Given the description of an element on the screen output the (x, y) to click on. 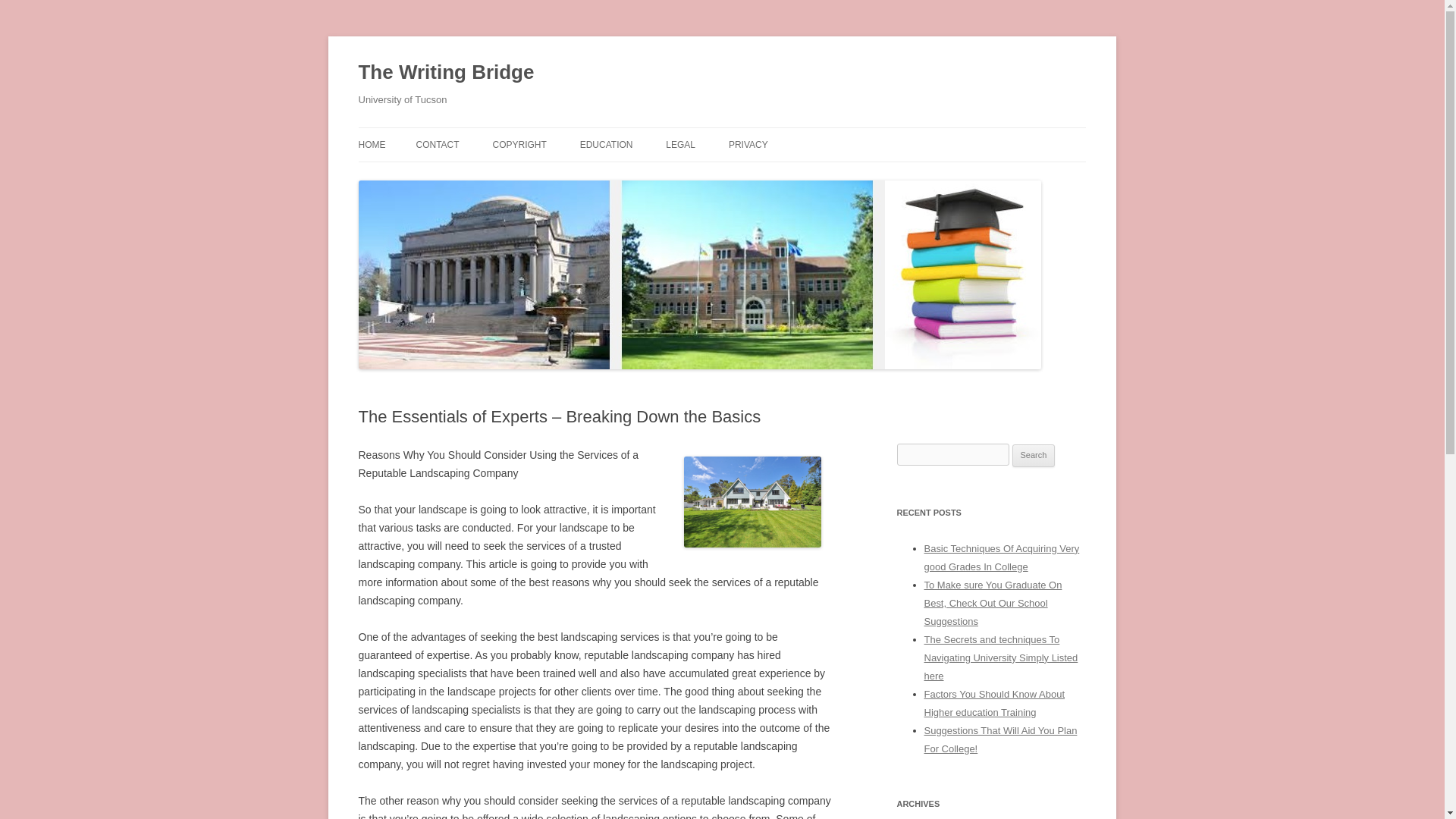
Search (1033, 455)
Basic Techniques Of Acquiring Very good Grades In College (1000, 557)
EDUCATION (606, 144)
The Writing Bridge (446, 72)
PRIVACY (748, 144)
Suggestions That Will Aid You Plan For College! (1000, 739)
CONTACT (436, 144)
